Given the description of an element on the screen output the (x, y) to click on. 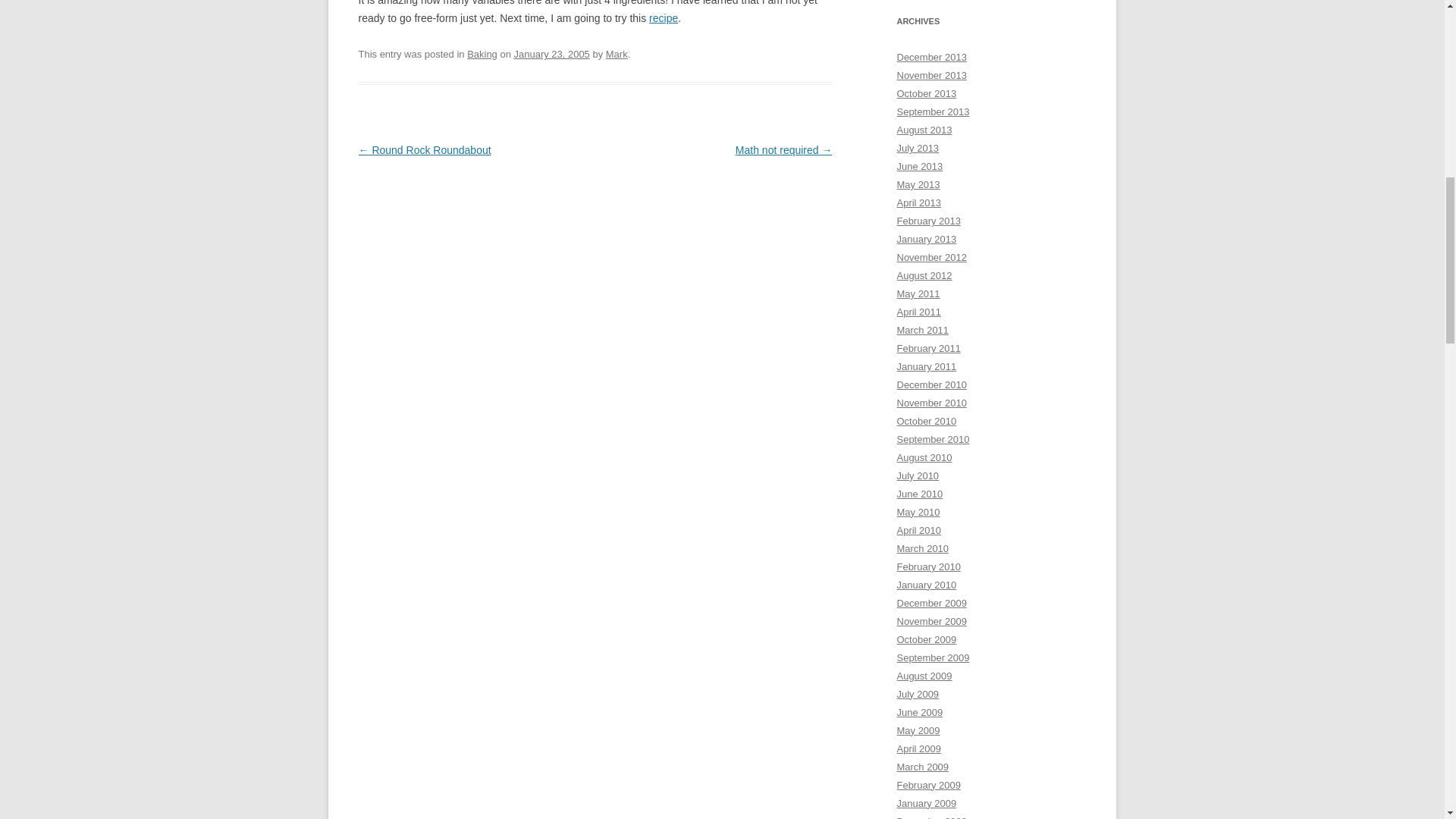
December 2013 (931, 57)
January 2013 (926, 238)
March 2011 (922, 329)
February 2013 (927, 220)
June 2013 (919, 165)
November 2013 (931, 75)
February 2011 (927, 348)
April 2013 (918, 202)
November 2012 (931, 256)
October 2013 (926, 93)
Mark (616, 53)
August 2012 (924, 275)
recipe (663, 18)
August 2013 (924, 129)
April 2011 (918, 311)
